Given the description of an element on the screen output the (x, y) to click on. 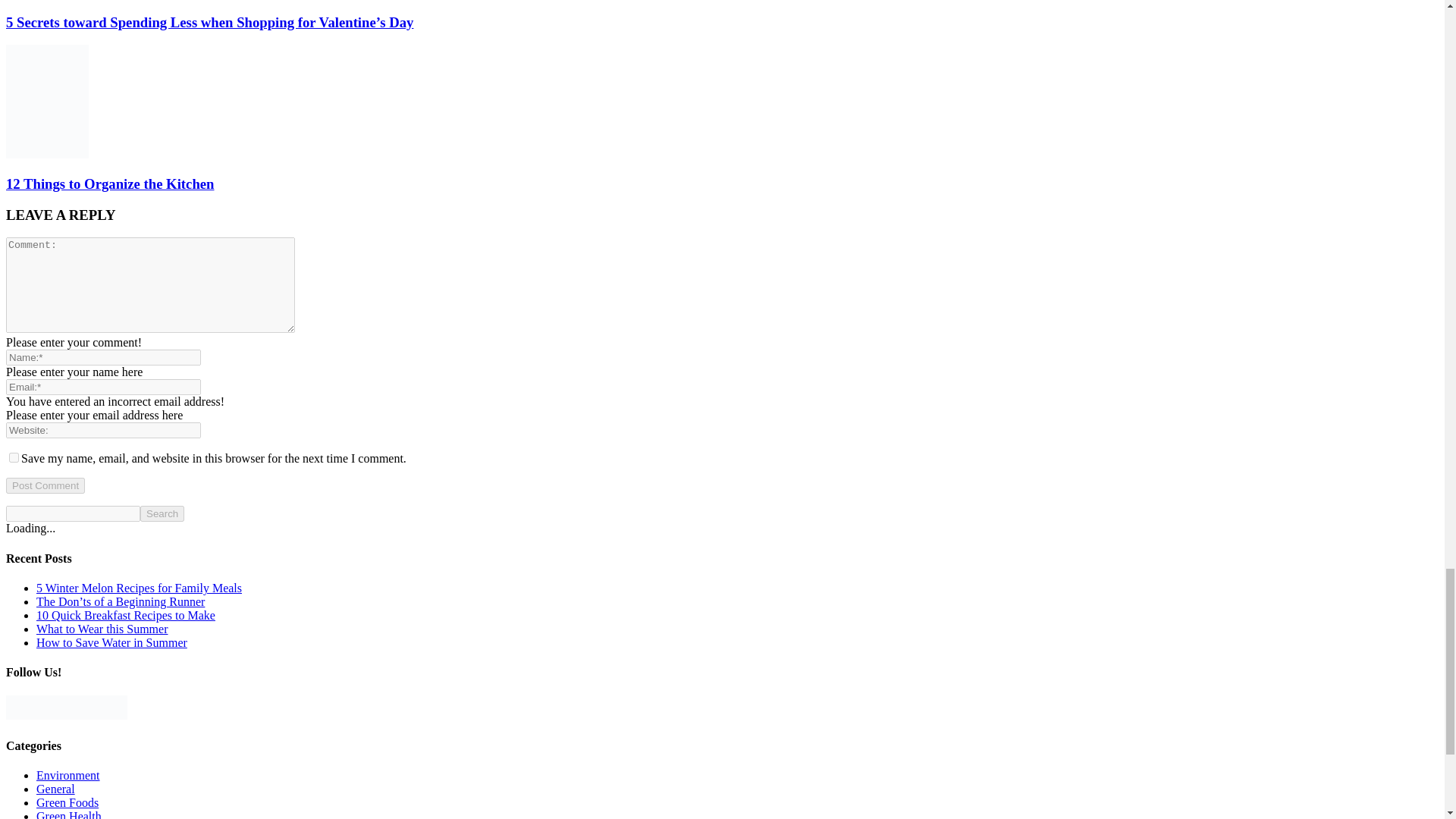
Follow Us on Facebook (17, 707)
yes (13, 457)
Post Comment (44, 485)
12 Things to Organize the Kitchen (109, 183)
12 Things to Organize the Kitchen (46, 154)
Search (161, 513)
Follow Us on Twitter (66, 707)
